Given the description of an element on the screen output the (x, y) to click on. 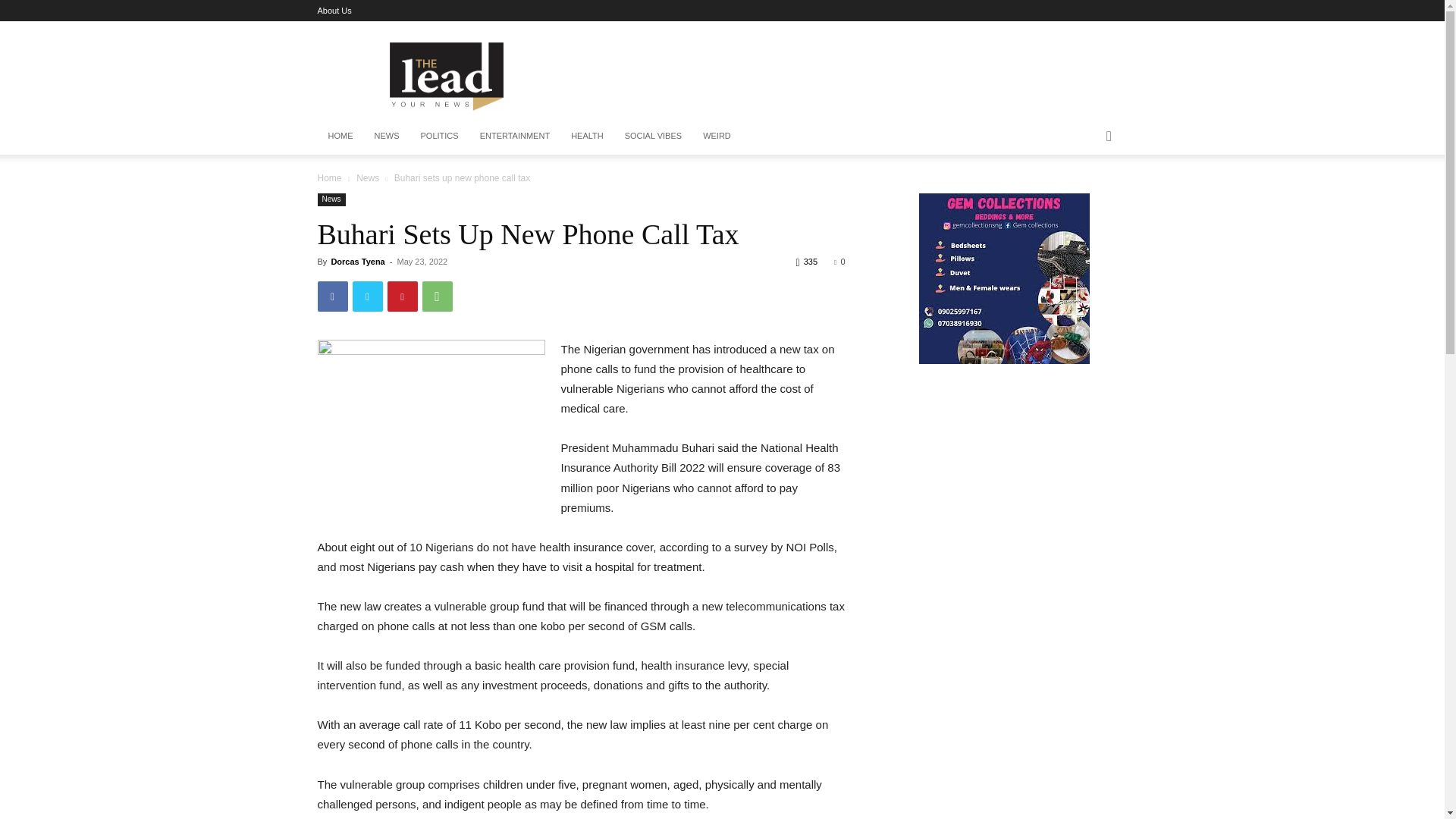
WEIRD (717, 135)
Home (328, 177)
News (331, 199)
POLITICS (438, 135)
Pinterest (401, 296)
View all posts in News (367, 177)
SOCIAL VIBES (653, 135)
News (367, 177)
Buhari (430, 412)
HOME (339, 135)
HEALTH (587, 135)
Dorcas Tyena (357, 261)
Search (1085, 197)
Twitter (366, 296)
Facebook (332, 296)
